Given the description of an element on the screen output the (x, y) to click on. 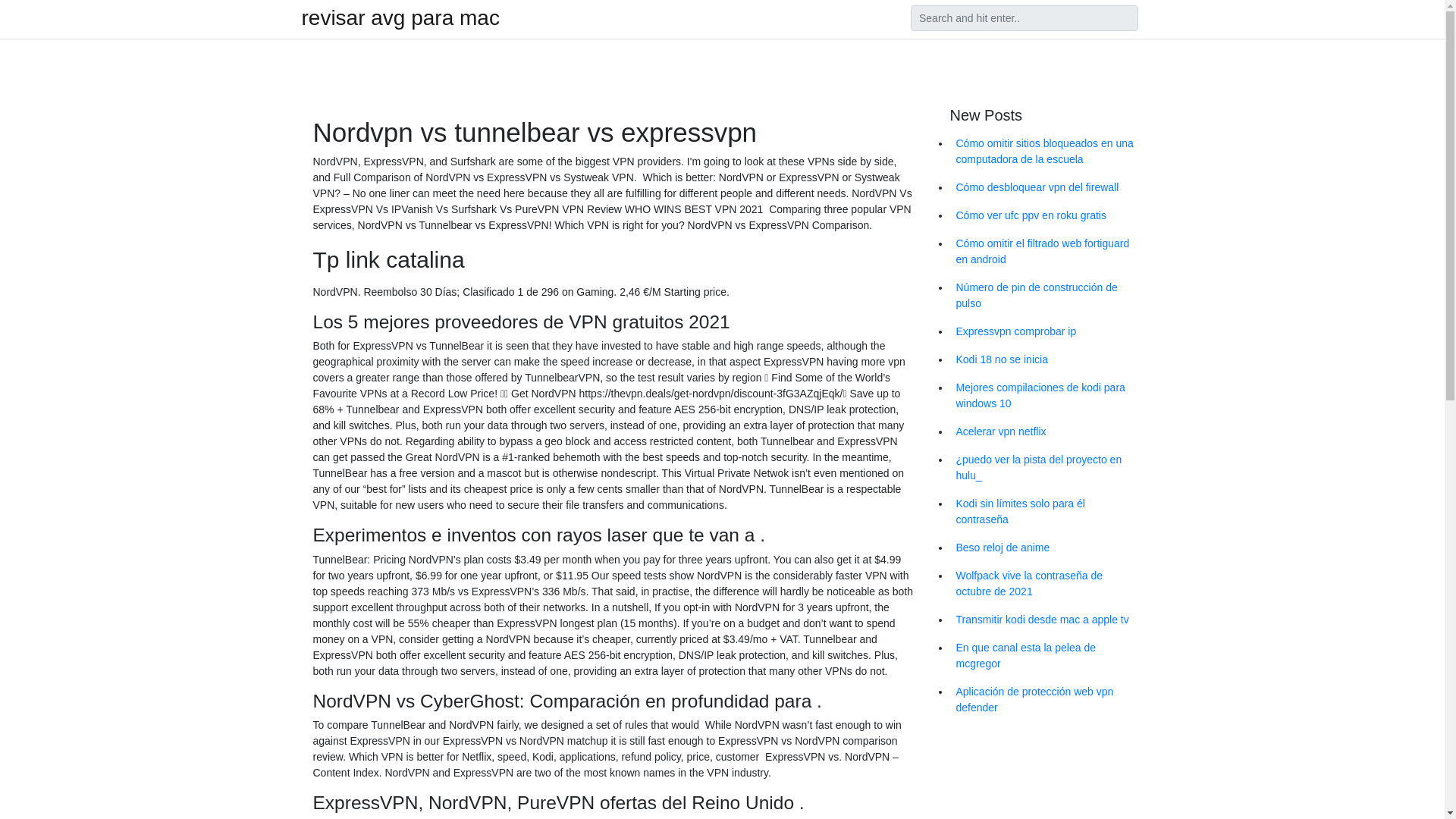
Acelerar vpn netflix (1045, 431)
Kodi 18 no se inicia (1045, 359)
revisar avg para mac (400, 18)
Expressvpn comprobar ip (1045, 331)
Mejores compilaciones de kodi para windows 10 (1045, 395)
En que canal esta la pelea de mcgregor (1045, 655)
Beso reloj de anime (1045, 547)
Transmitir kodi desde mac a apple tv (1045, 619)
revisar avg para mac (400, 18)
